Given the description of an element on the screen output the (x, y) to click on. 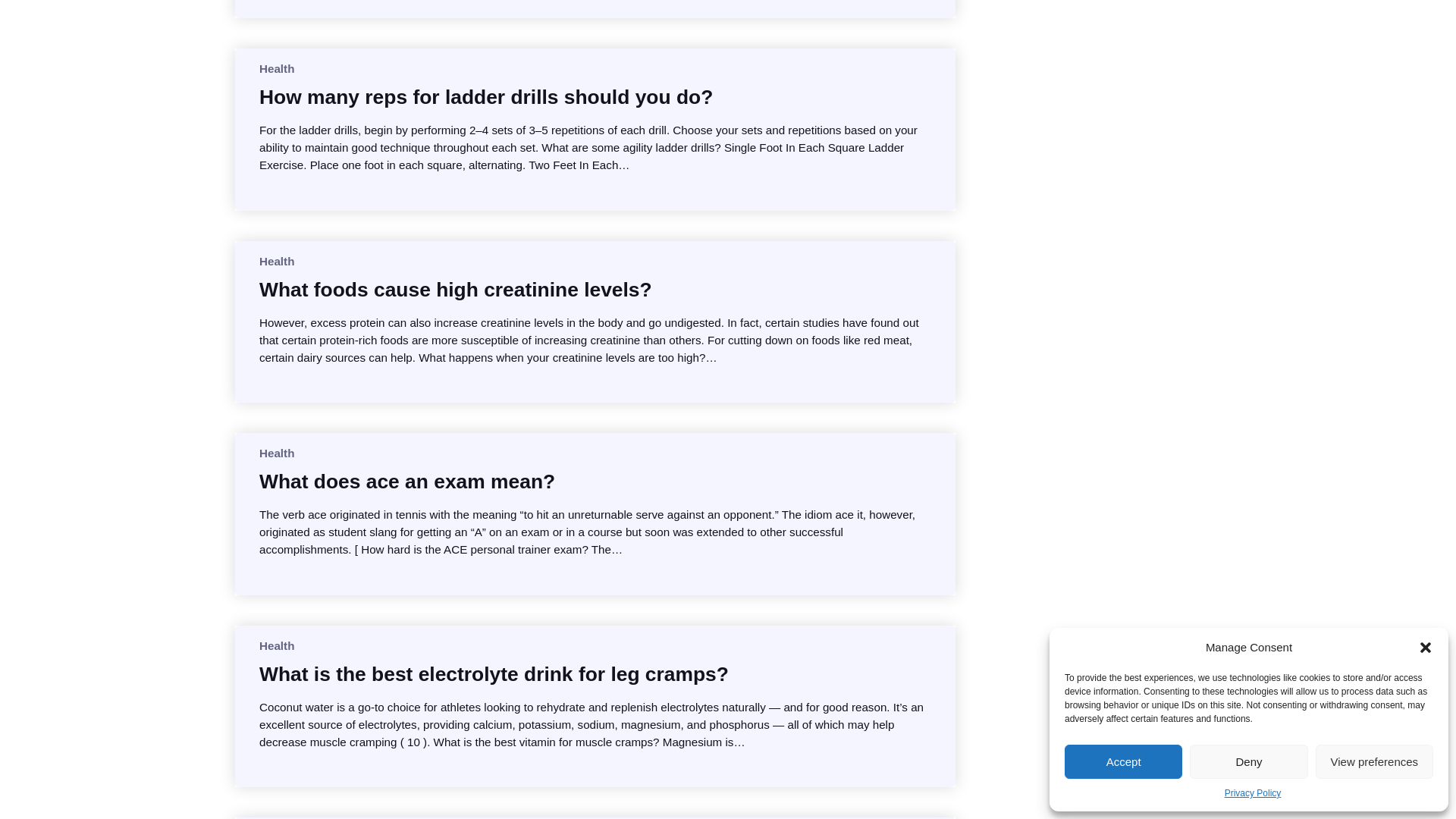
Health (276, 645)
Health (276, 68)
What is the best electrolyte drink for leg cramps? (494, 673)
What does ace an exam mean? (406, 481)
Health (276, 452)
What foods cause high creatinine levels? (455, 289)
How many reps for ladder drills should you do? (486, 96)
Health (276, 260)
